Given the description of an element on the screen output the (x, y) to click on. 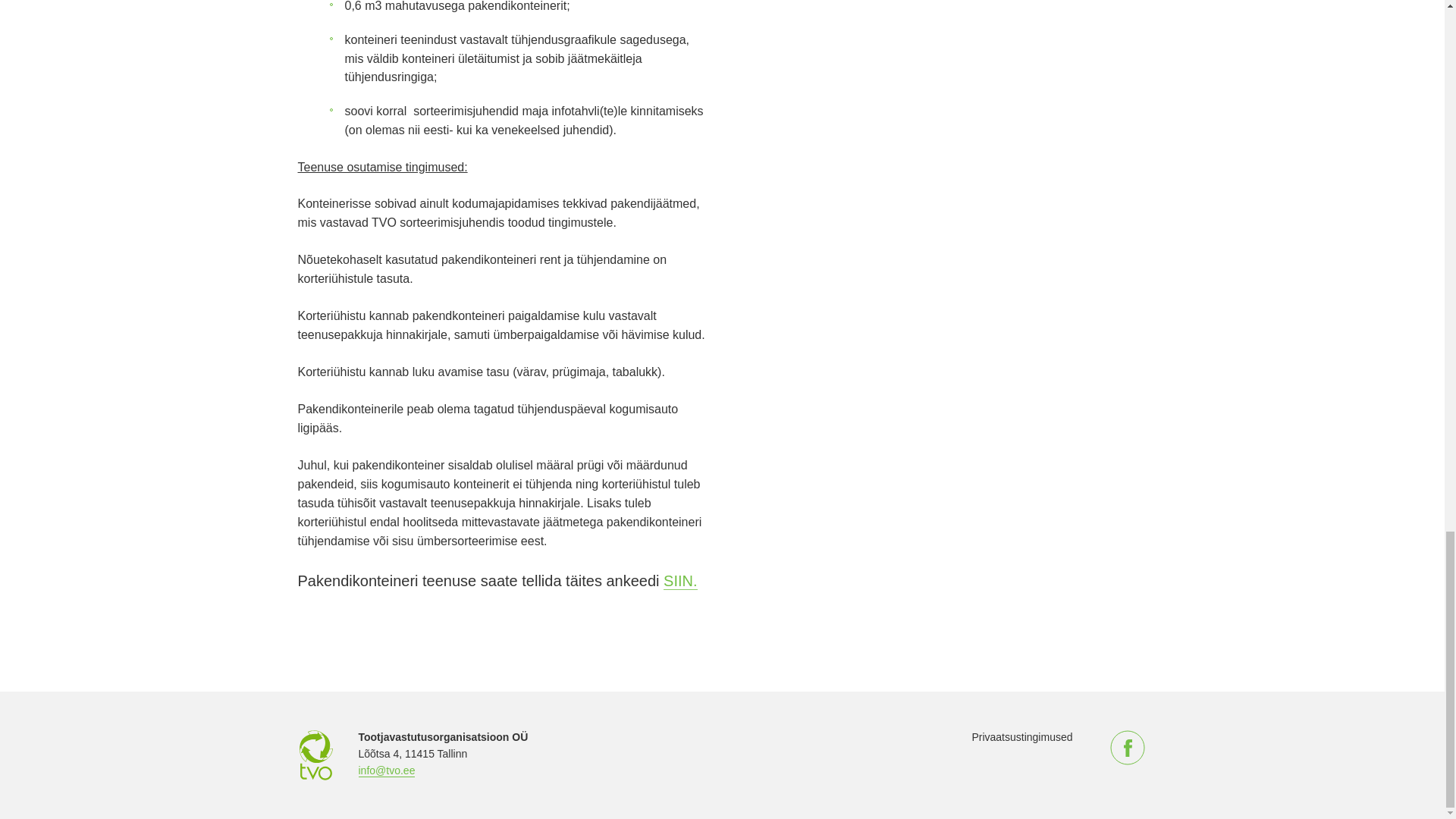
SIIN. (680, 580)
Privaatsustingimused (1021, 736)
